Given the description of an element on the screen output the (x, y) to click on. 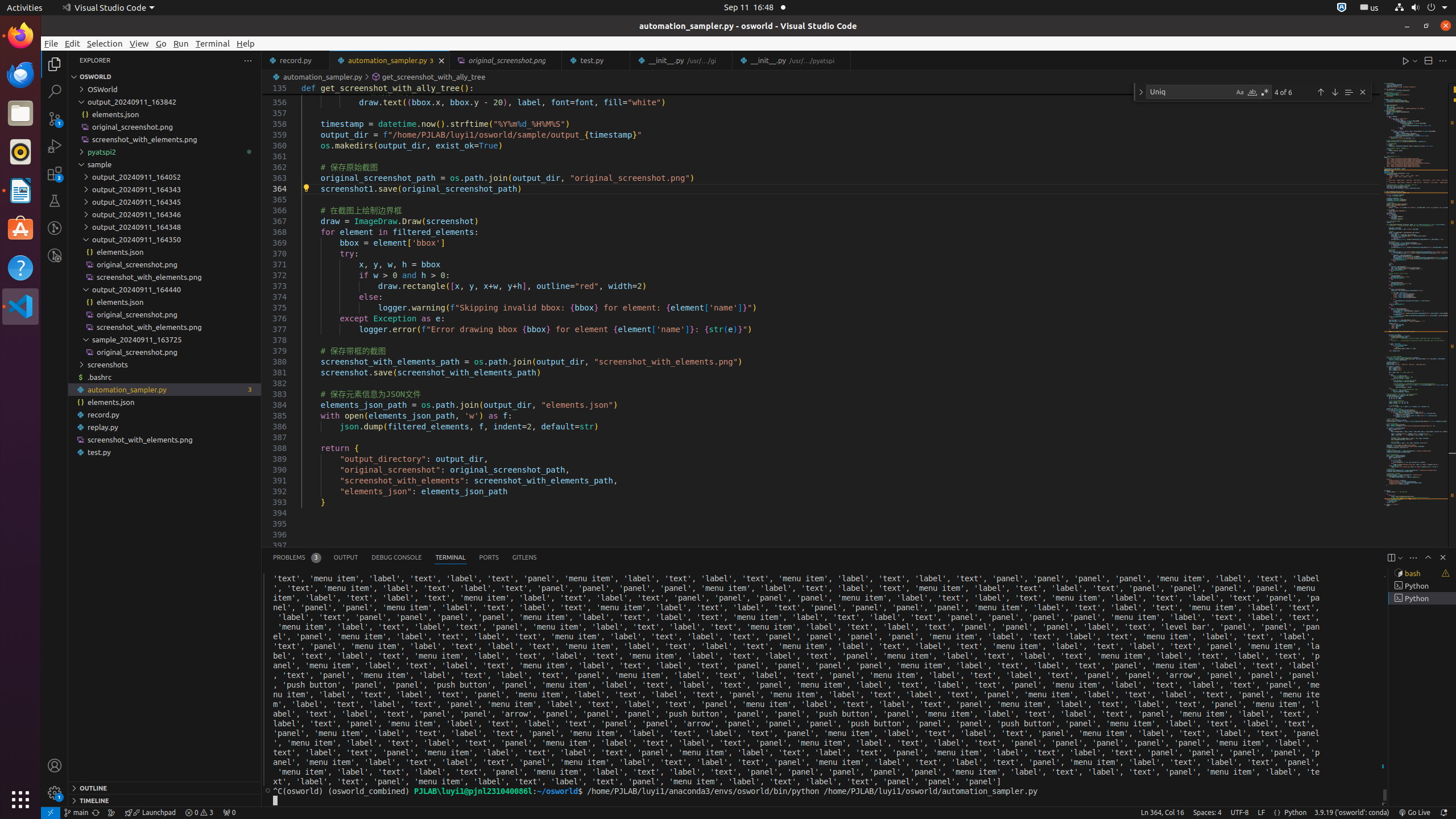
remote Element type: push-button (50, 812)
Testing Element type: page-tab (54, 200)
No Ports Forwarded Element type: push-button (228, 812)
output_20240911_164348 Element type: tree-item (164, 226)
Extensions (Ctrl+Shift+X) - 2 require update Element type: page-tab (54, 173)
